Given the description of an element on the screen output the (x, y) to click on. 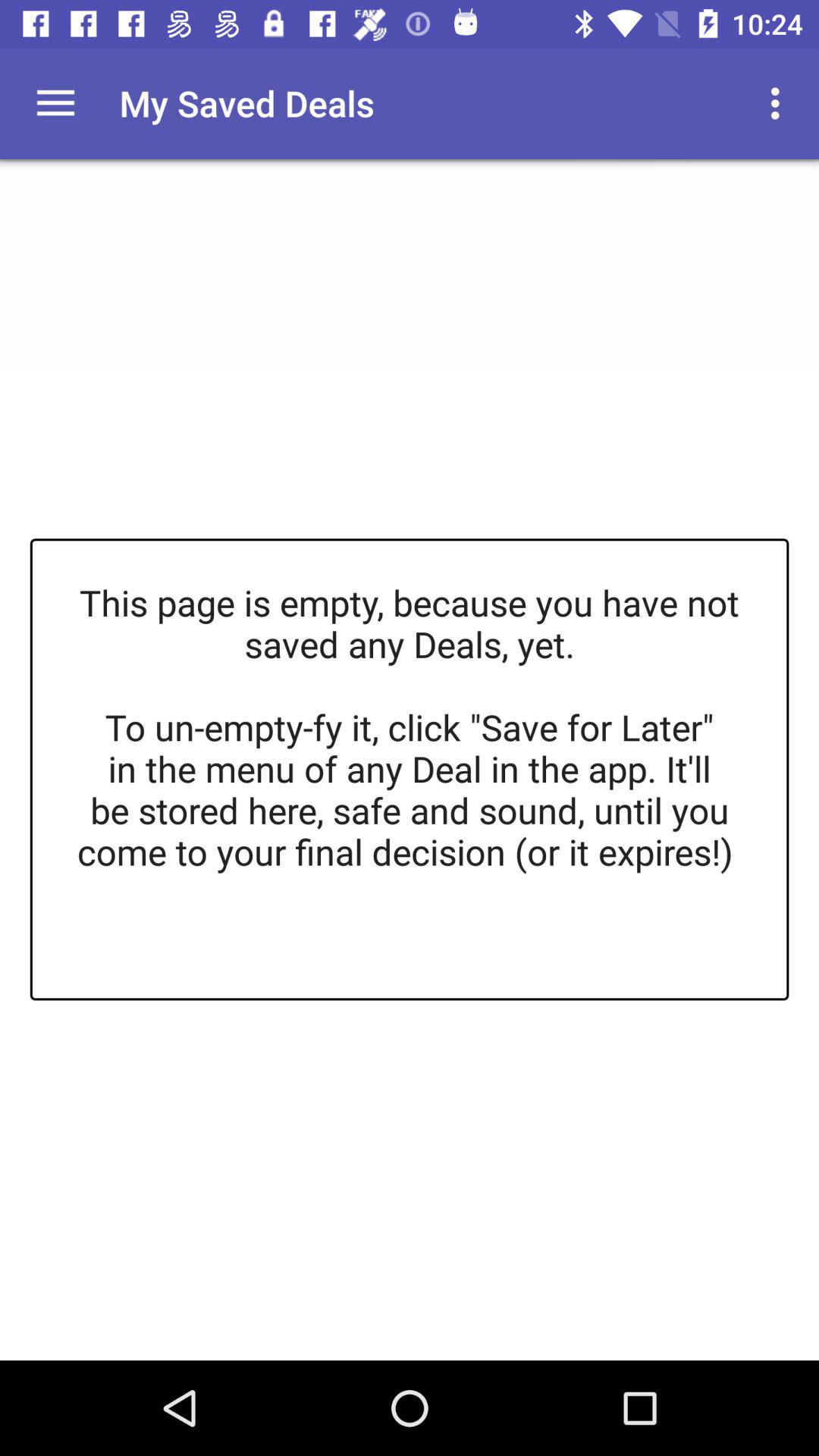
select the app to the right of the my saved deals app (779, 103)
